Given the description of an element on the screen output the (x, y) to click on. 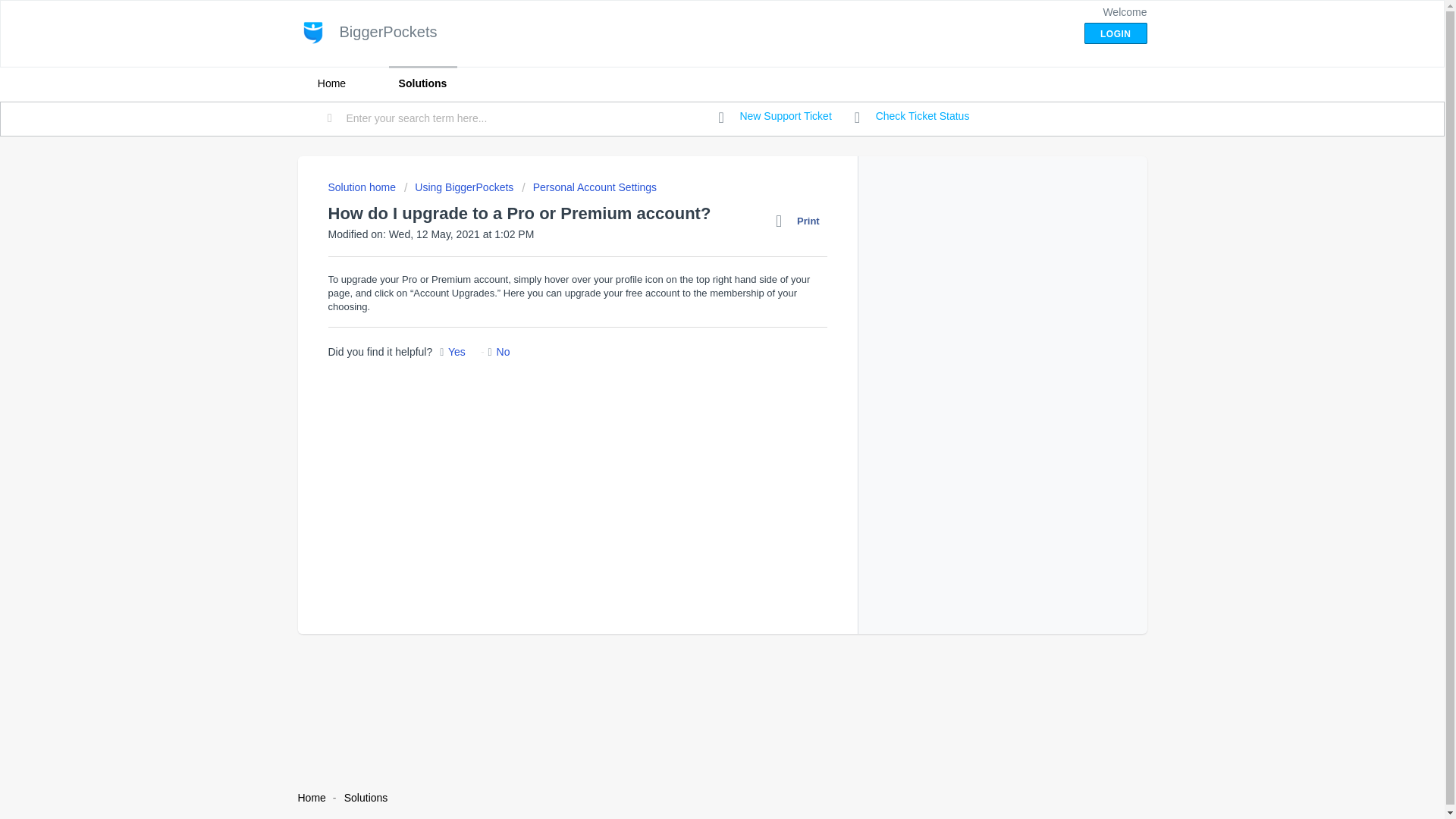
New support ticket (775, 116)
Check Ticket Status (911, 116)
Print this Article (801, 220)
Home (310, 797)
Solutions (365, 797)
Personal Account Settings (588, 186)
Print (801, 220)
Home (331, 83)
LOGIN (1115, 33)
Solutions (422, 83)
Solution home (362, 186)
Using BiggerPockets (458, 186)
Check ticket status (911, 116)
New Support Ticket (775, 116)
